Given the description of an element on the screen output the (x, y) to click on. 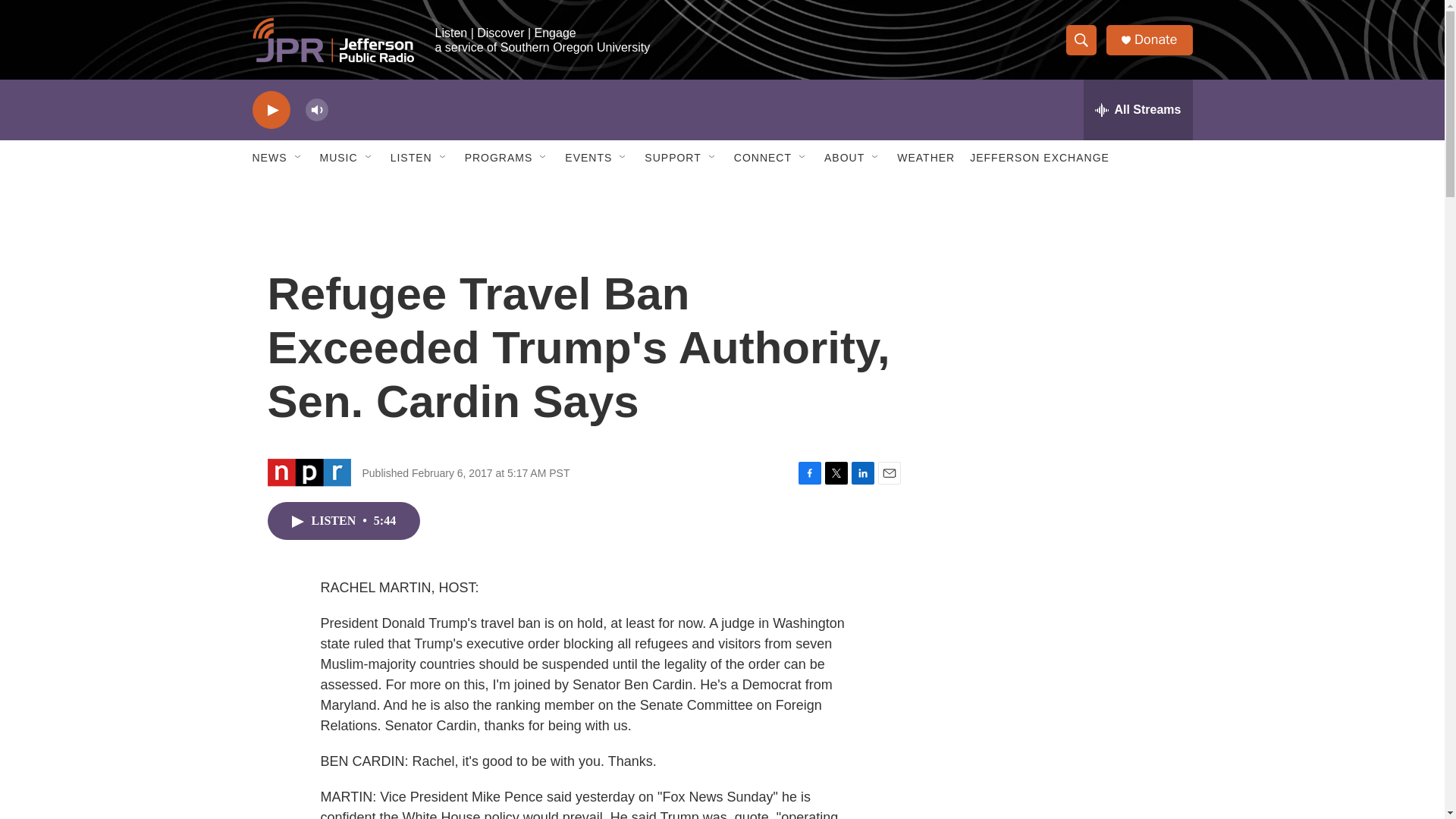
3rd party ad content (1062, 536)
3rd party ad content (1062, 740)
3rd party ad content (1062, 316)
